Given the description of an element on the screen output the (x, y) to click on. 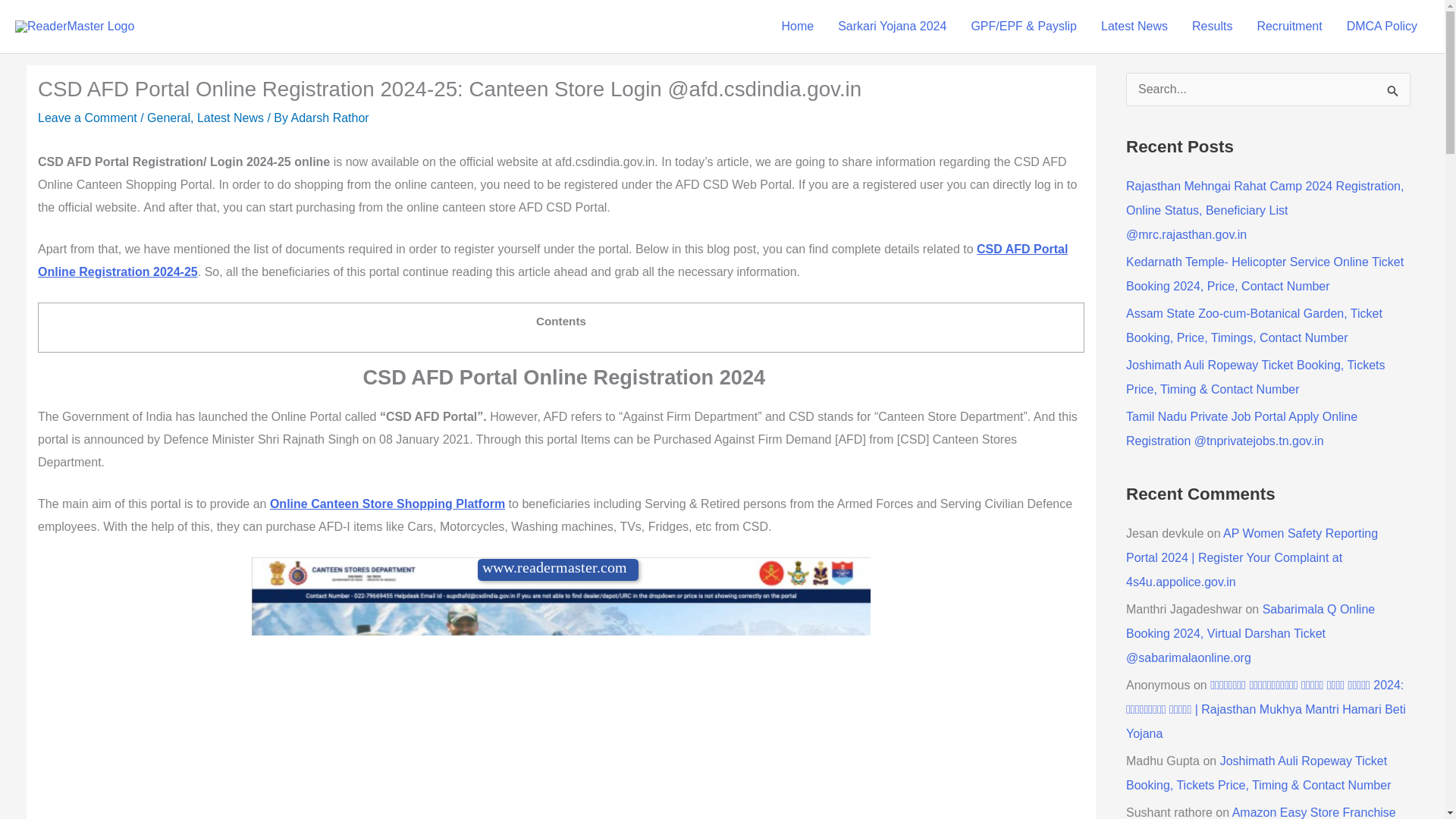
Home (796, 26)
Online Canteen Store Shopping Platform (387, 503)
Leave a Comment (86, 117)
Latest News (229, 117)
Results (1211, 26)
Recruitment (1288, 26)
CSD AFD Portal Online Registration 2024-25 (552, 260)
Latest News (1134, 26)
General (168, 117)
DMCA Policy (1382, 26)
View all posts by Adarsh Rathor (330, 117)
Adarsh Rathor (330, 117)
Sarkari Yojana 2024 (891, 26)
